Given the description of an element on the screen output the (x, y) to click on. 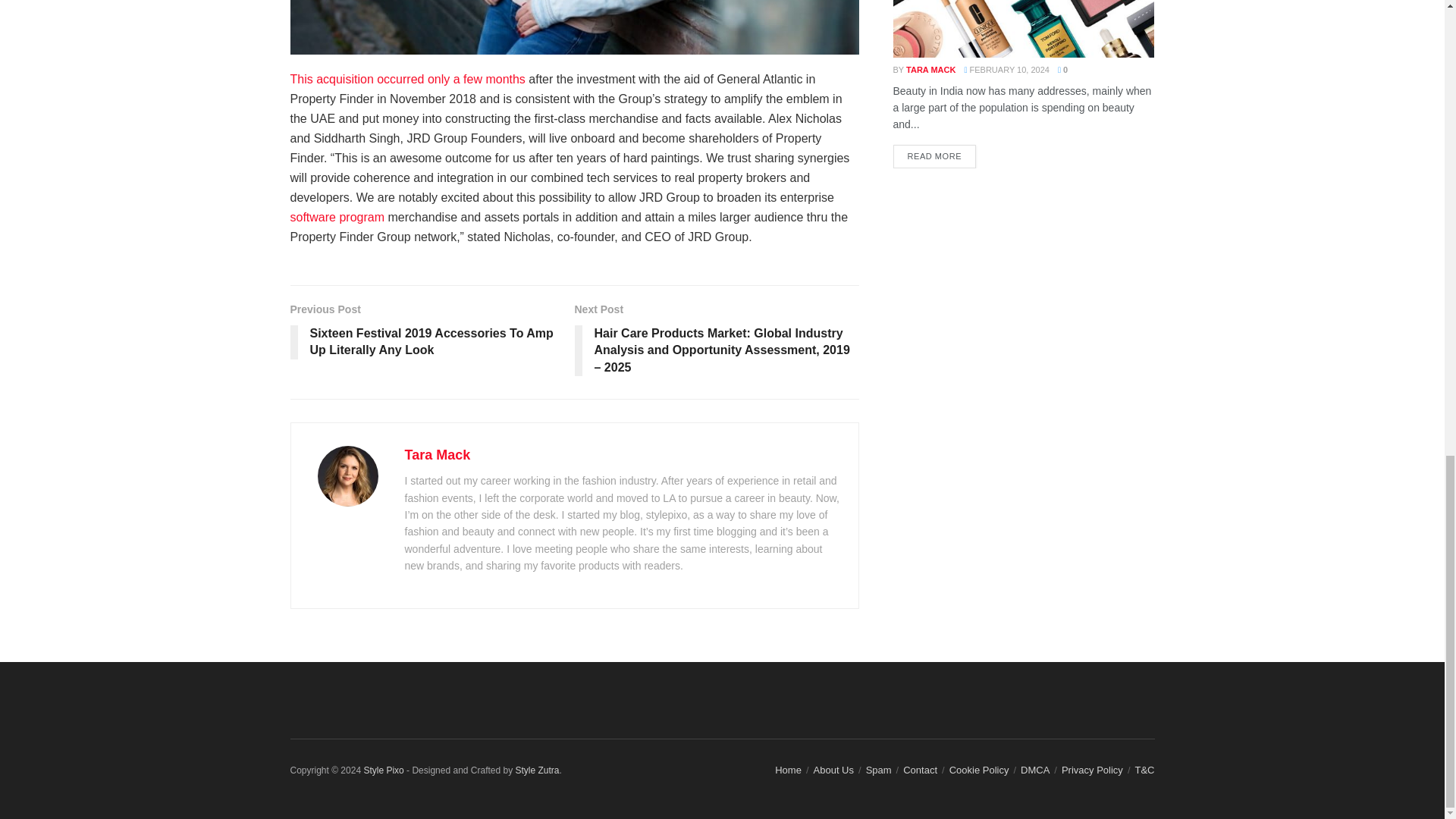
Property Finder to shop for JRD Group and Propspace 1 (574, 27)
Style Zutra (537, 769)
Style Pixo - Be Stylist n Viva Today (382, 769)
